Given the description of an element on the screen output the (x, y) to click on. 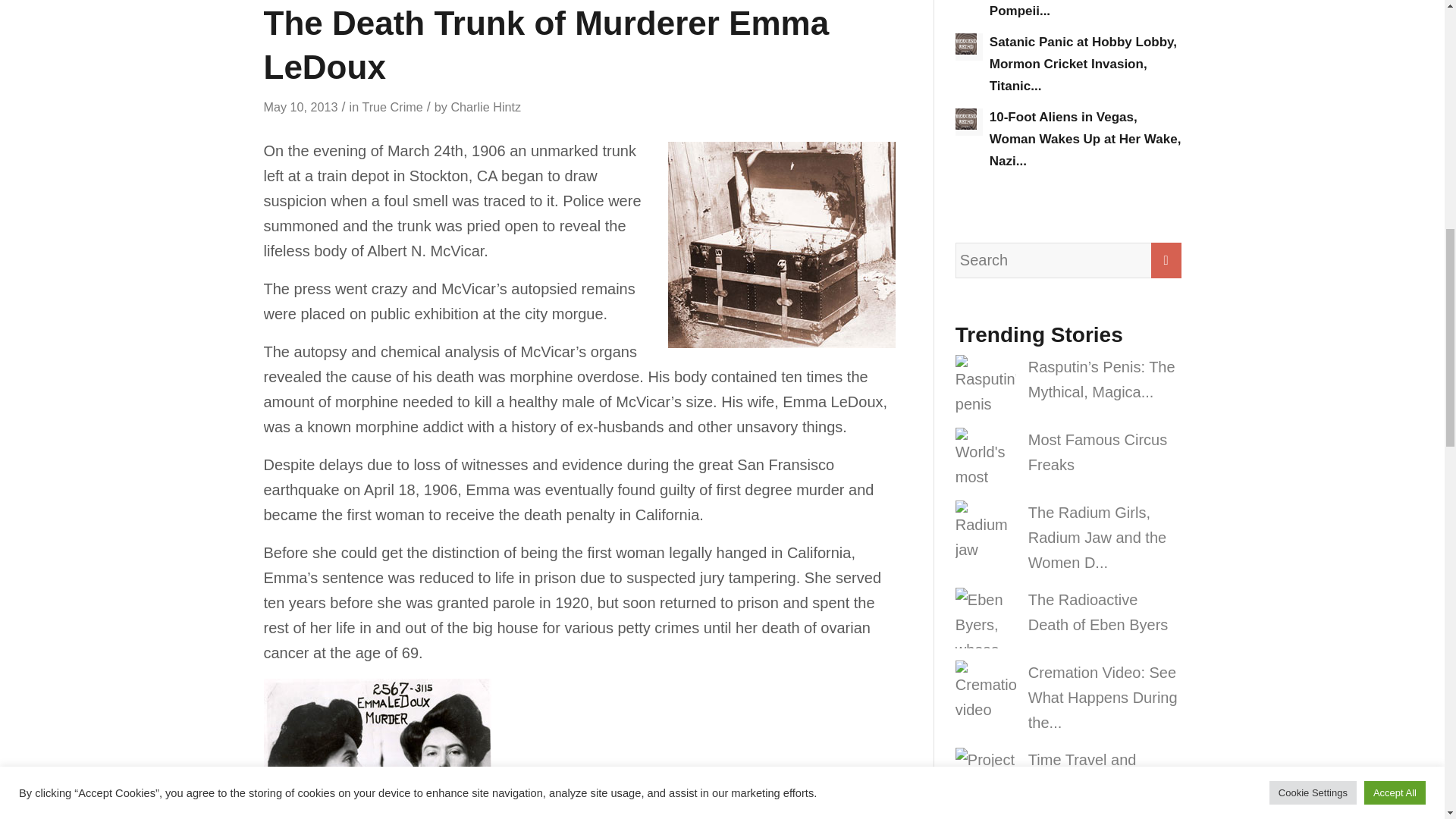
Posts by Charlie Hintz (485, 106)
True Crime (391, 106)
Charlie Hintz (485, 106)
